Given the description of an element on the screen output the (x, y) to click on. 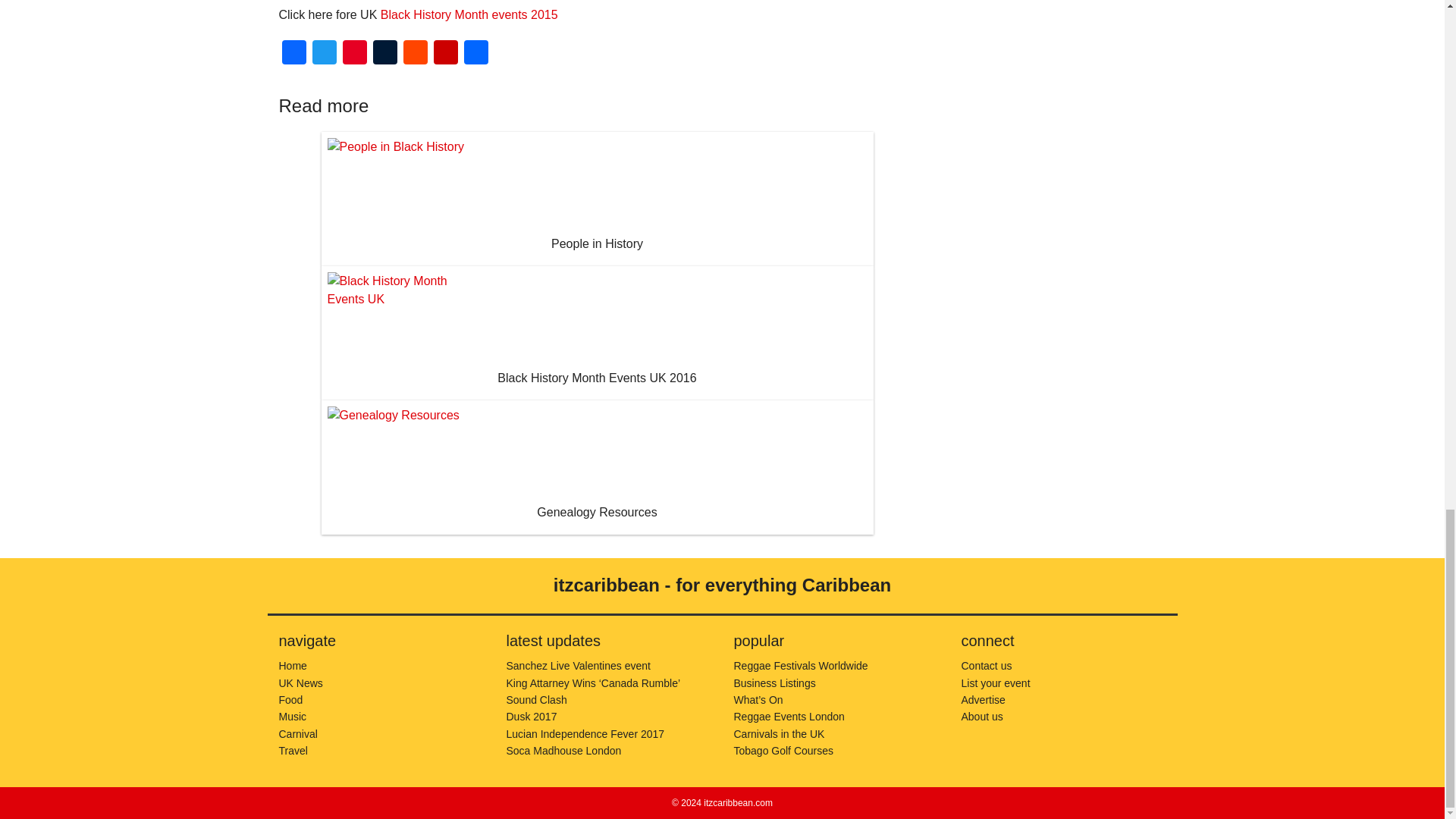
Black History Month events 2015 (468, 14)
Flipboard (445, 53)
Tumblr (384, 53)
Home (293, 665)
Flipboard (445, 53)
People in History (597, 198)
People in History (597, 198)
Twitter (323, 53)
Black History Month Events UK 2016 (597, 333)
Pinterest (354, 53)
Pinterest (354, 53)
Genealogy Resources (597, 467)
Black History Month Events (468, 14)
Tumblr (384, 53)
Reddit (415, 53)
